Given the description of an element on the screen output the (x, y) to click on. 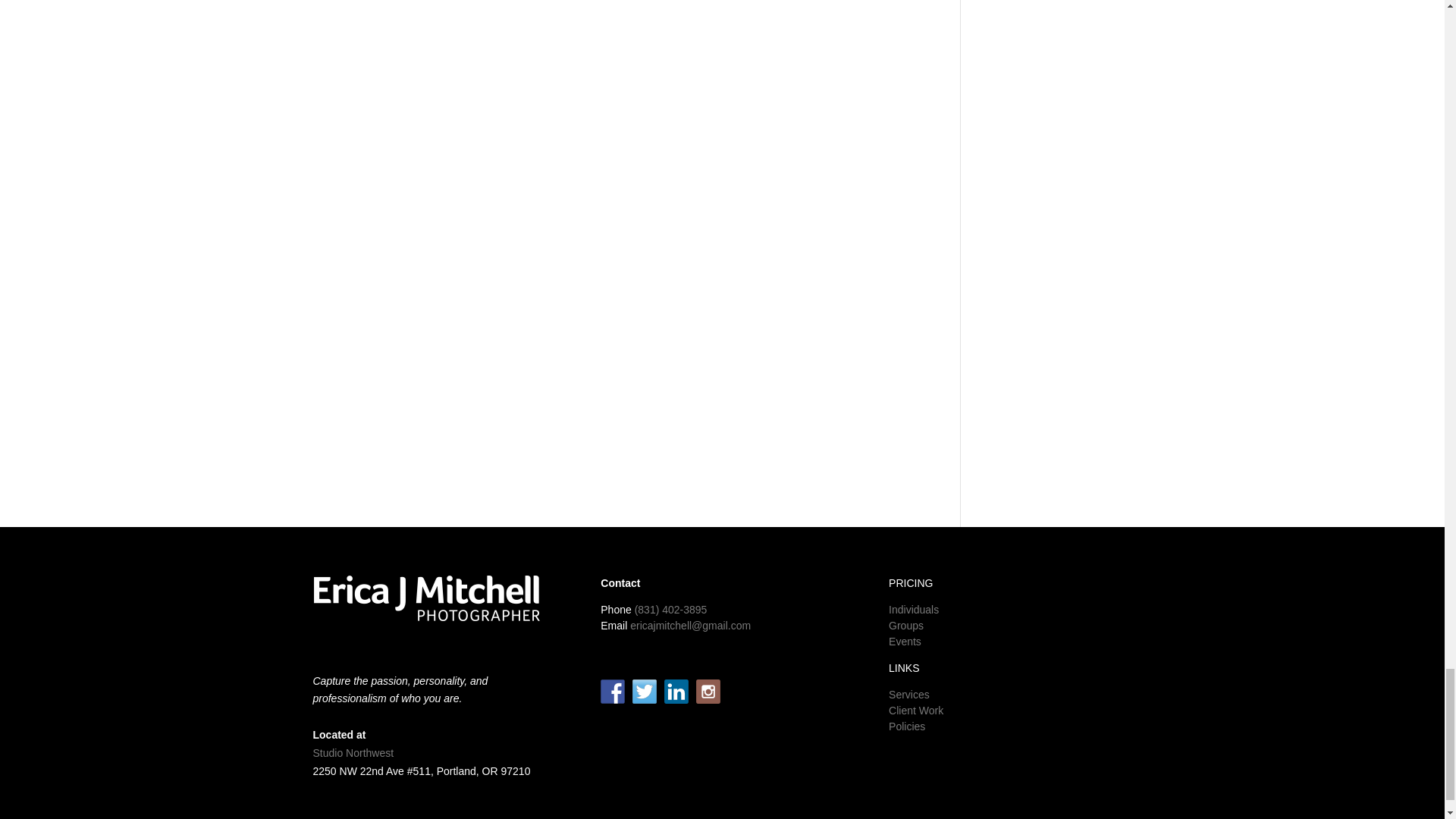
Follow us on Twitter (643, 691)
Find us on Linkedin (675, 691)
Check out our instagram feed (707, 691)
Follow us on Facebook (611, 691)
